Given the description of an element on the screen output the (x, y) to click on. 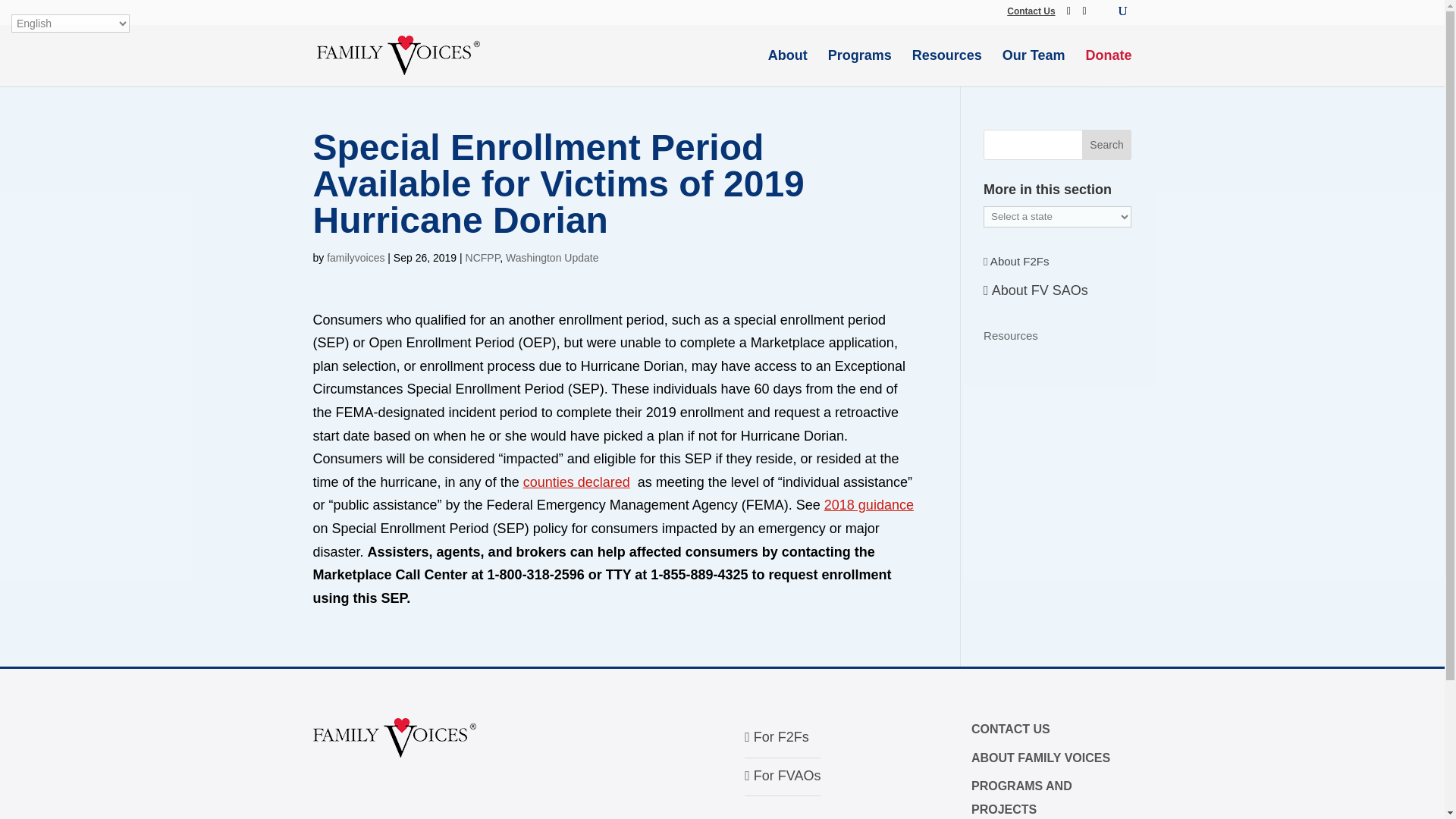
Our Team (1034, 60)
CONTACT US (1010, 728)
Contact Us (1030, 10)
Search (1106, 144)
PROGRAMS AND PROJECTS (1021, 797)
counties declared (576, 482)
Programs (859, 60)
About (788, 60)
ABOUT FAMILY VOICES (1040, 757)
For FVAOs (782, 775)
For F2Fs (776, 736)
About FV SAOs (1035, 290)
Resources (1011, 335)
familyvoices (355, 257)
Resources (946, 60)
